Given the description of an element on the screen output the (x, y) to click on. 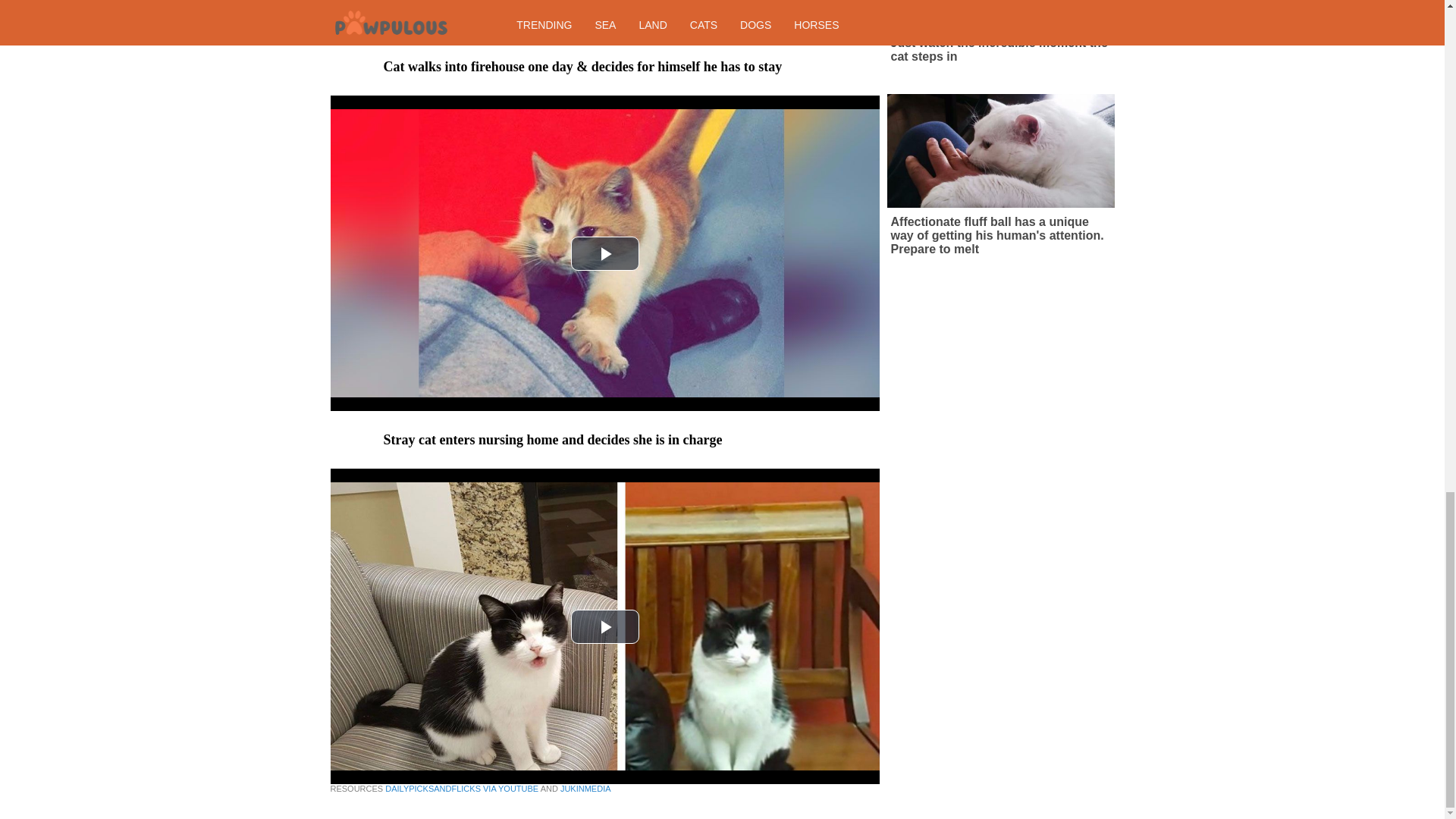
JUKINMEDIA (585, 788)
Play Video (604, 253)
Play Video (604, 626)
DAILYPICKSANDFLICKS VIA YOUTUBE (461, 788)
